Given the description of an element on the screen output the (x, y) to click on. 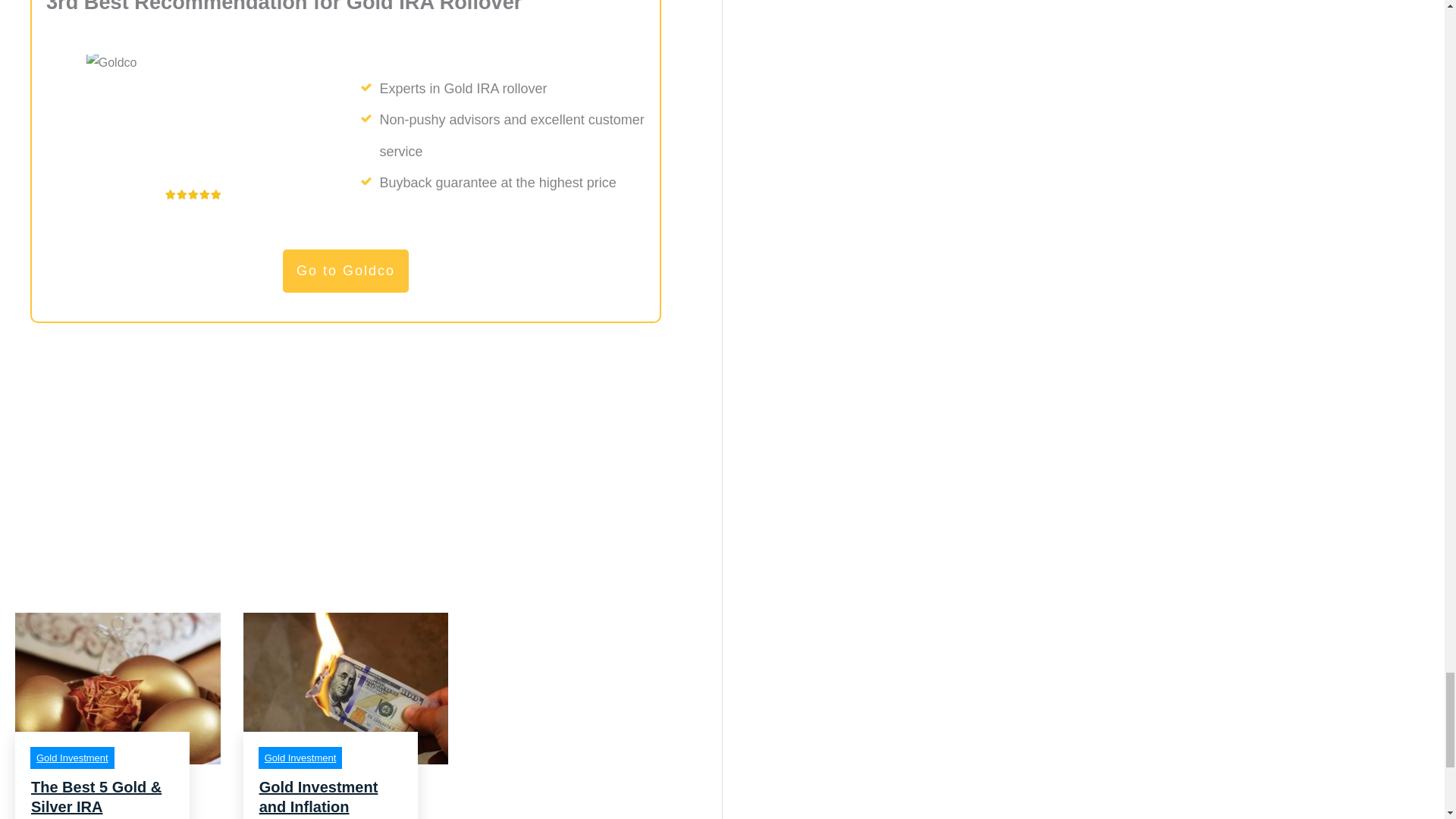
Gold Investment (71, 757)
Gold Investment and Inflation (318, 796)
Gold Investment (300, 757)
Gold Investment and Inflation (345, 715)
Gold Investment (300, 757)
Gold Investment (71, 757)
Goldco (192, 122)
Go to Goldco (345, 271)
Gold Investment and Inflation (318, 796)
